Given the description of an element on the screen output the (x, y) to click on. 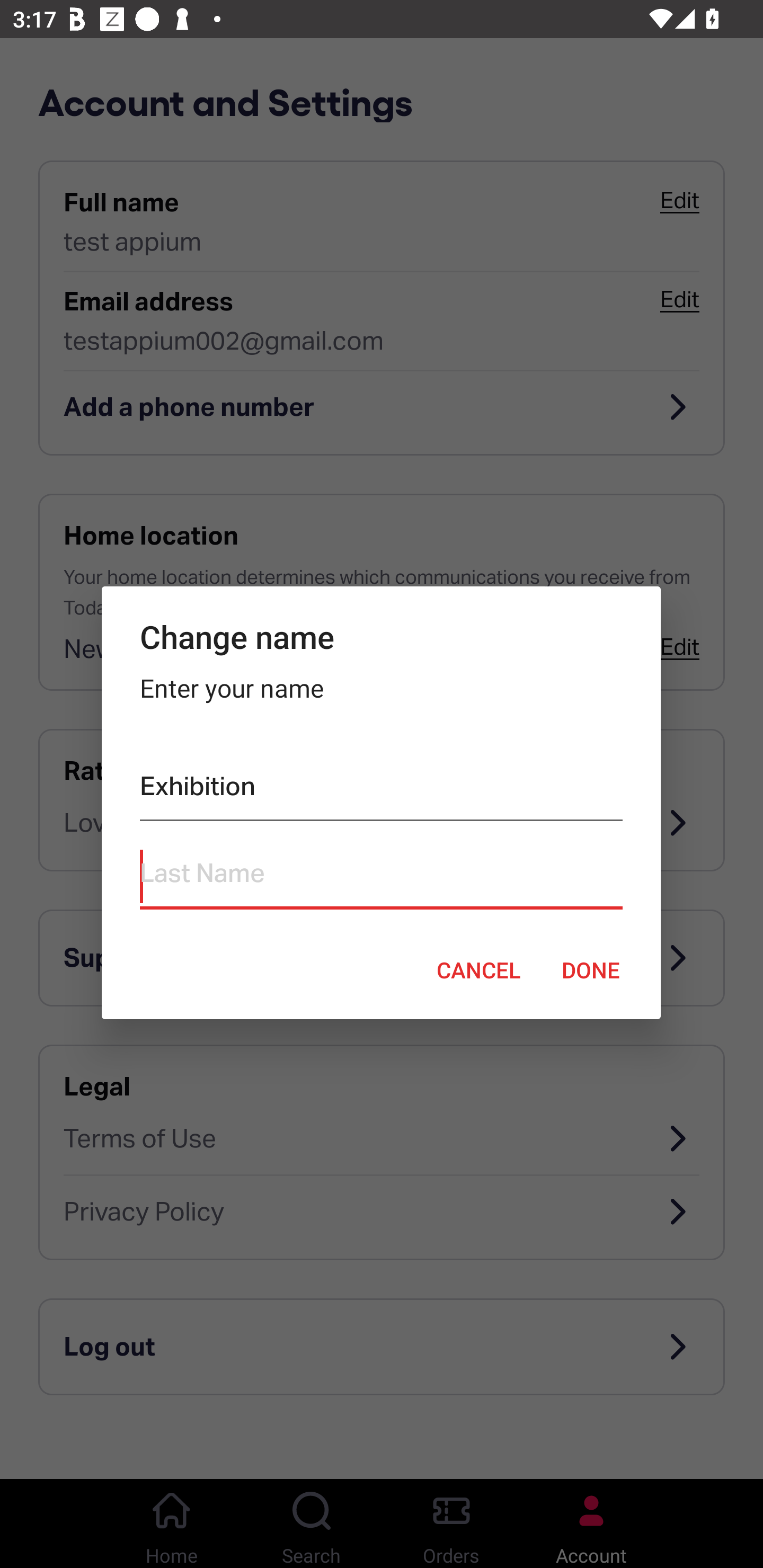
Exhibition (380, 790)
Last Name (380, 877)
CANCEL (478, 969)
DONE (590, 969)
